Given the description of an element on the screen output the (x, y) to click on. 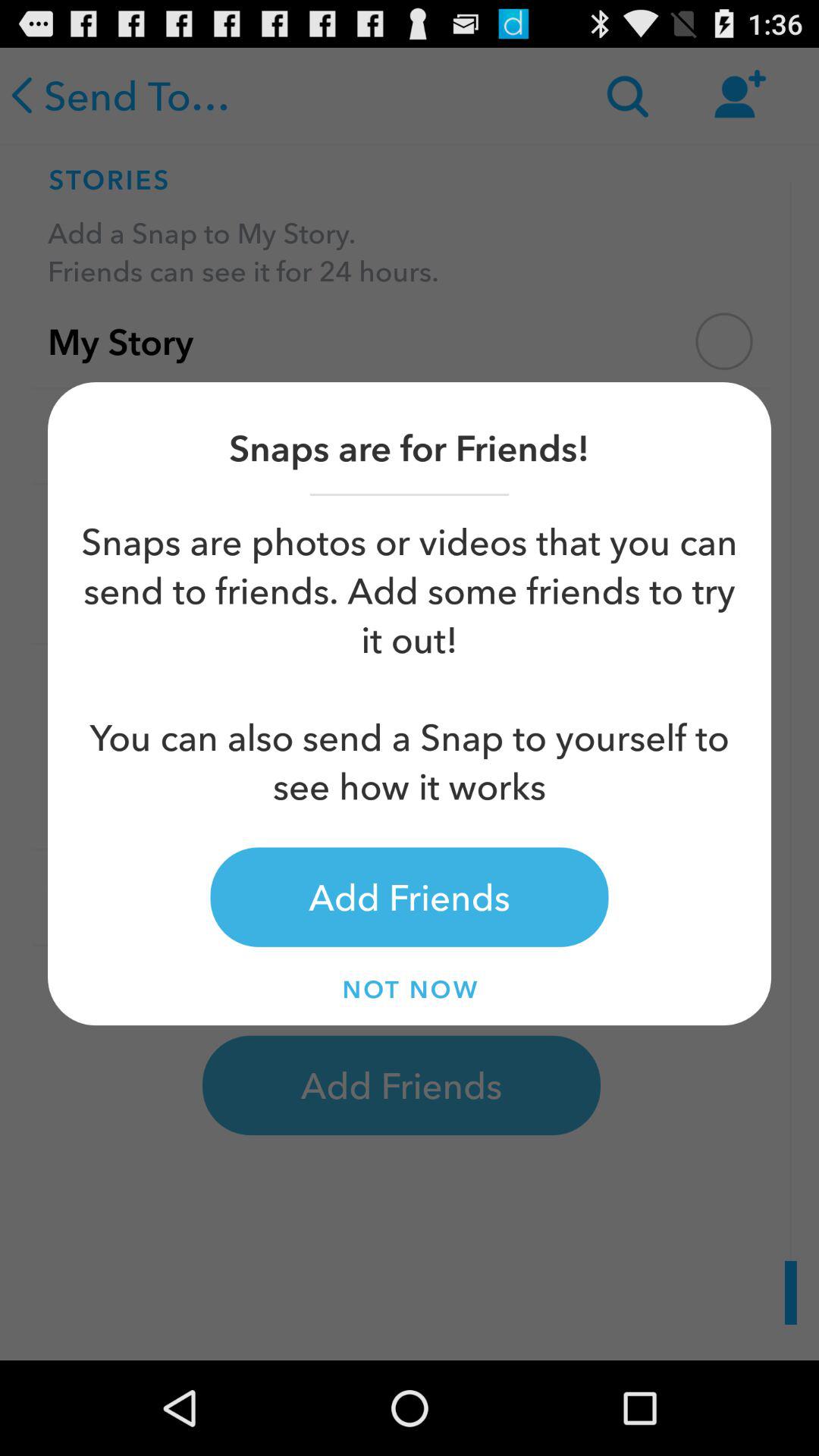
open item below add friends item (409, 989)
